Given the description of an element on the screen output the (x, y) to click on. 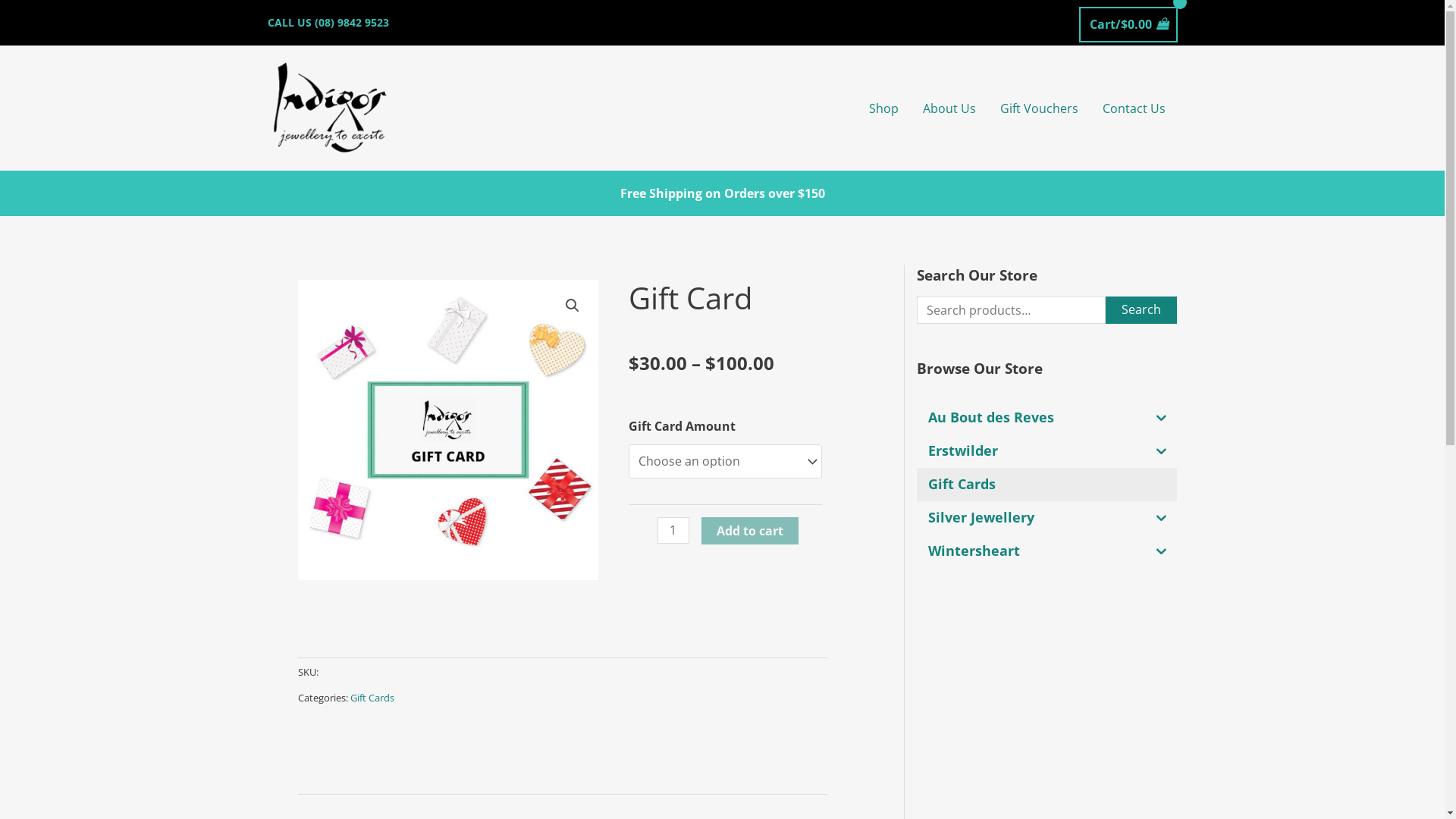
About Us Element type: text (948, 107)
Gift Cards Element type: text (372, 697)
Add to cart Element type: text (749, 530)
Wintersheart Element type: text (1030, 550)
CALL US (08) 9842 9523 Element type: text (327, 22)
gift-card-2-3.jpg Element type: hover (447, 429)
Silver Jewellery Element type: text (1030, 517)
Au Bout des Reves Element type: text (1030, 417)
Search Element type: text (1140, 309)
Cart/$0.00 Element type: text (1127, 24)
Shop Element type: text (883, 107)
Gift Cards Element type: text (1046, 484)
Gift Vouchers Element type: text (1038, 107)
Contact Us Element type: text (1133, 107)
Erstwilder Element type: text (1030, 450)
